Given the description of an element on the screen output the (x, y) to click on. 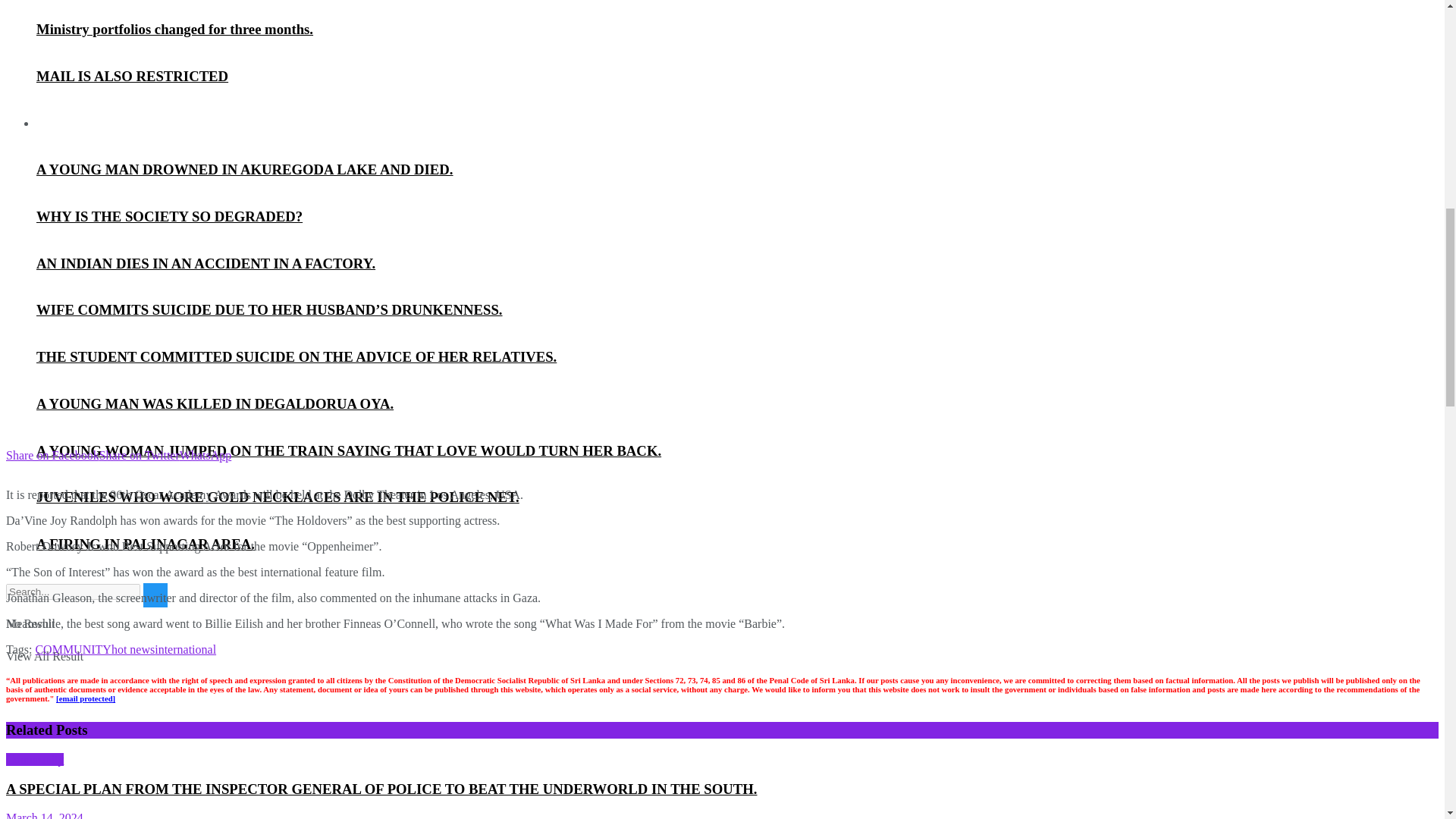
MAIL IS ALSO RESTRICTED (132, 75)
A YOUNG MAN DROWNED IN AKUREGODA LAKE AND DIED. (244, 169)
Ministry portfolios changed for three months. (174, 28)
Youth and Community News (106, 123)
